Given the description of an element on the screen output the (x, y) to click on. 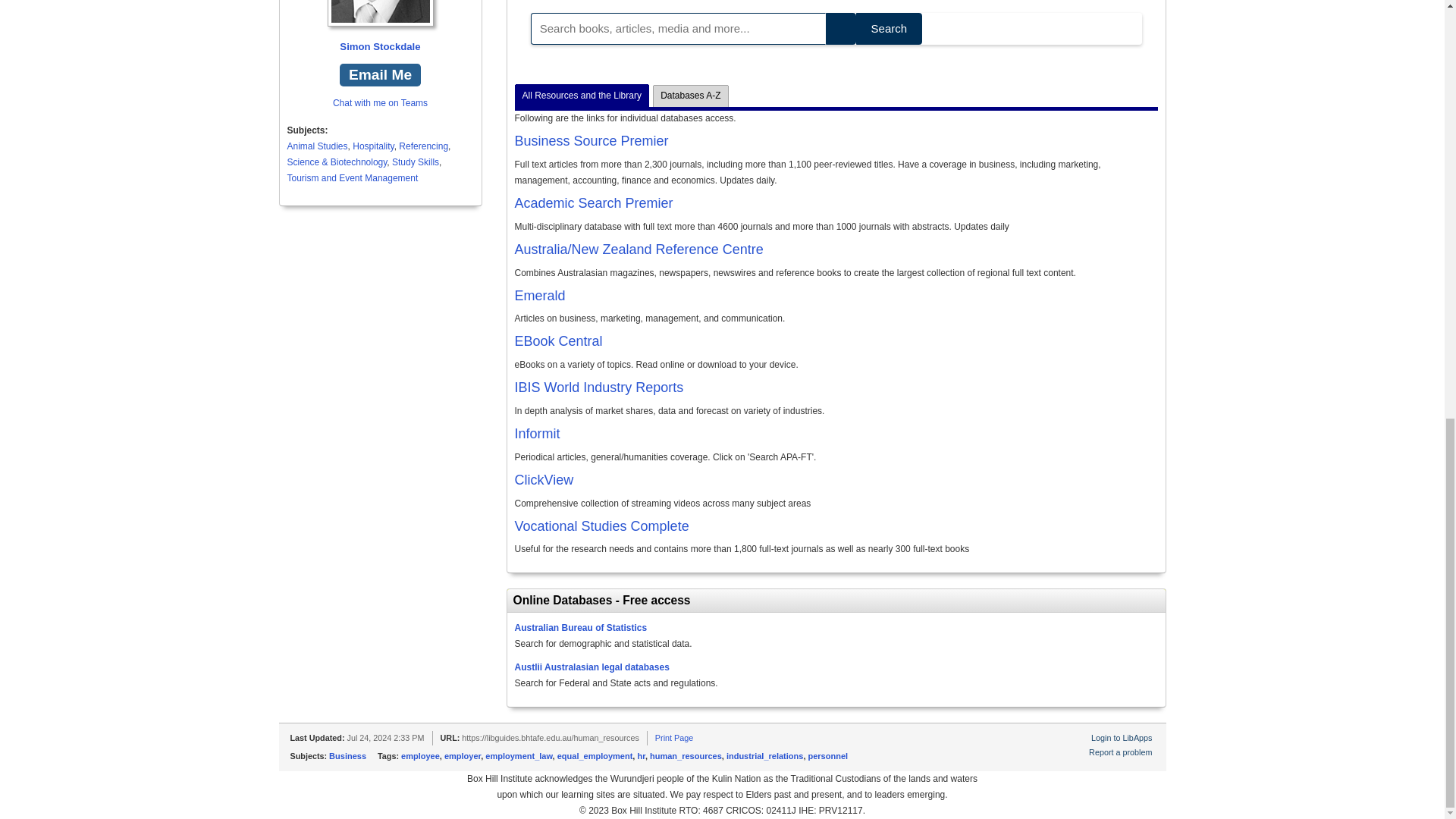
Chat with me on Teams (380, 102)
EBL (557, 340)
Business Source Premier (590, 140)
Academic Search premier (592, 202)
Tourism and Event Management (351, 177)
Hospitality (372, 145)
Infomit (536, 433)
Email Me (379, 74)
Referencing (423, 145)
Australian Bureau of Statistics (579, 627)
Vocational Studies Complete (600, 525)
IBIS (597, 387)
Emerald (538, 295)
Animal Studies (316, 145)
Study Skills (415, 162)
